Given the description of an element on the screen output the (x, y) to click on. 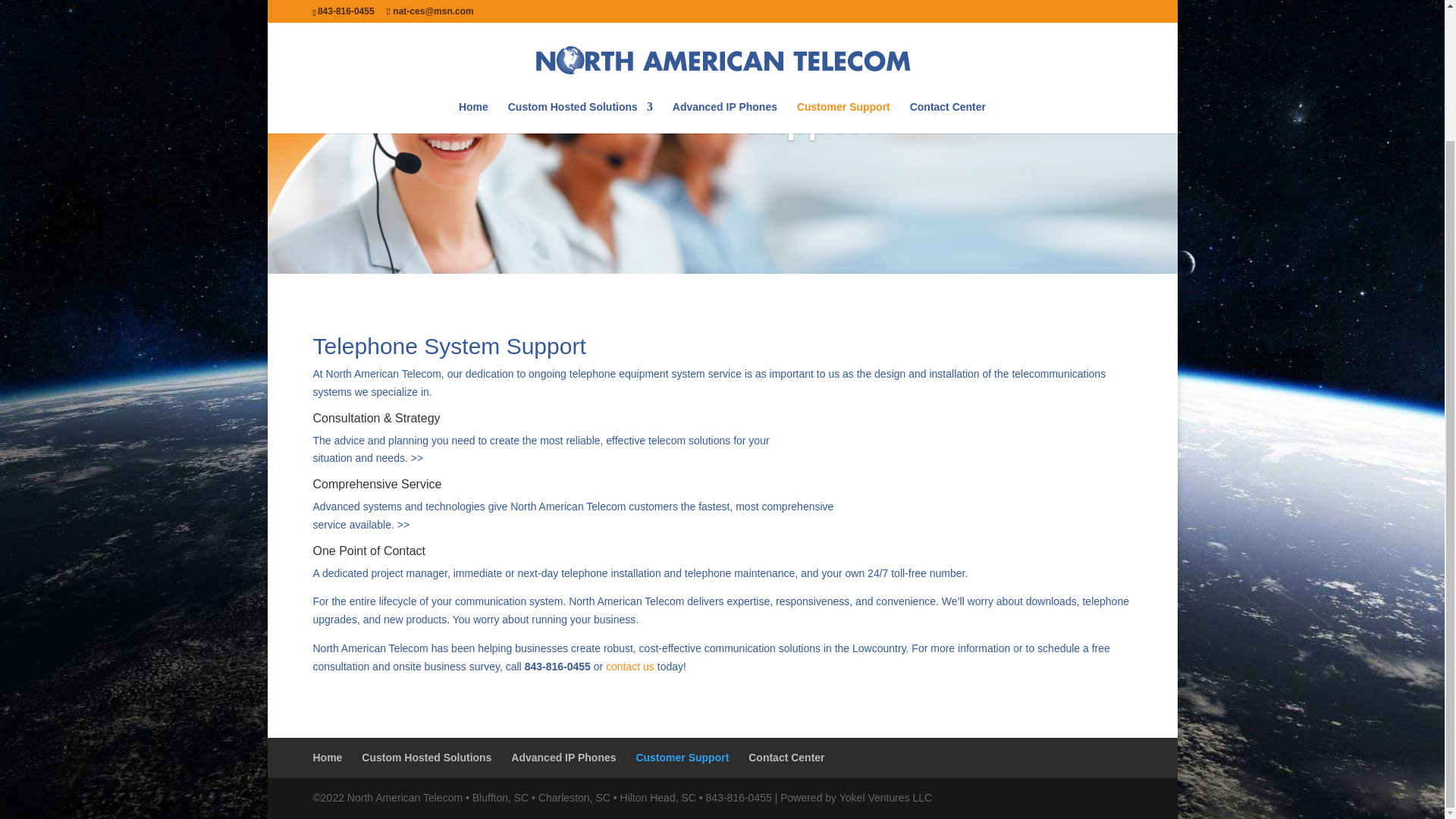
Customer Support (681, 757)
Custom Hosted Solutions (426, 757)
Advanced IP Phones (563, 757)
Contact Center (786, 757)
Home (327, 757)
contact us (629, 666)
